Given the description of an element on the screen output the (x, y) to click on. 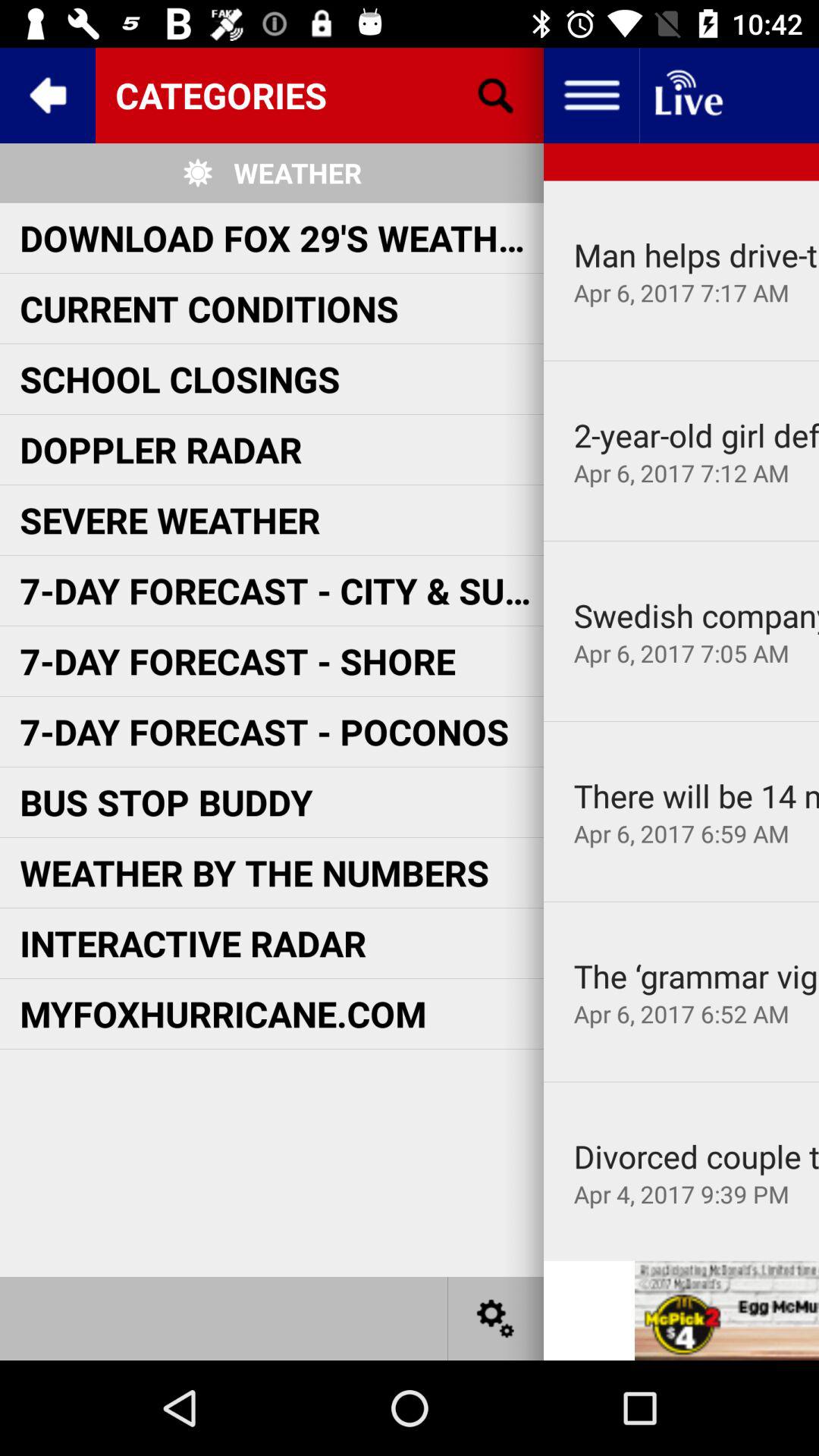
select icon below bus stop buddy (254, 872)
